Given the description of an element on the screen output the (x, y) to click on. 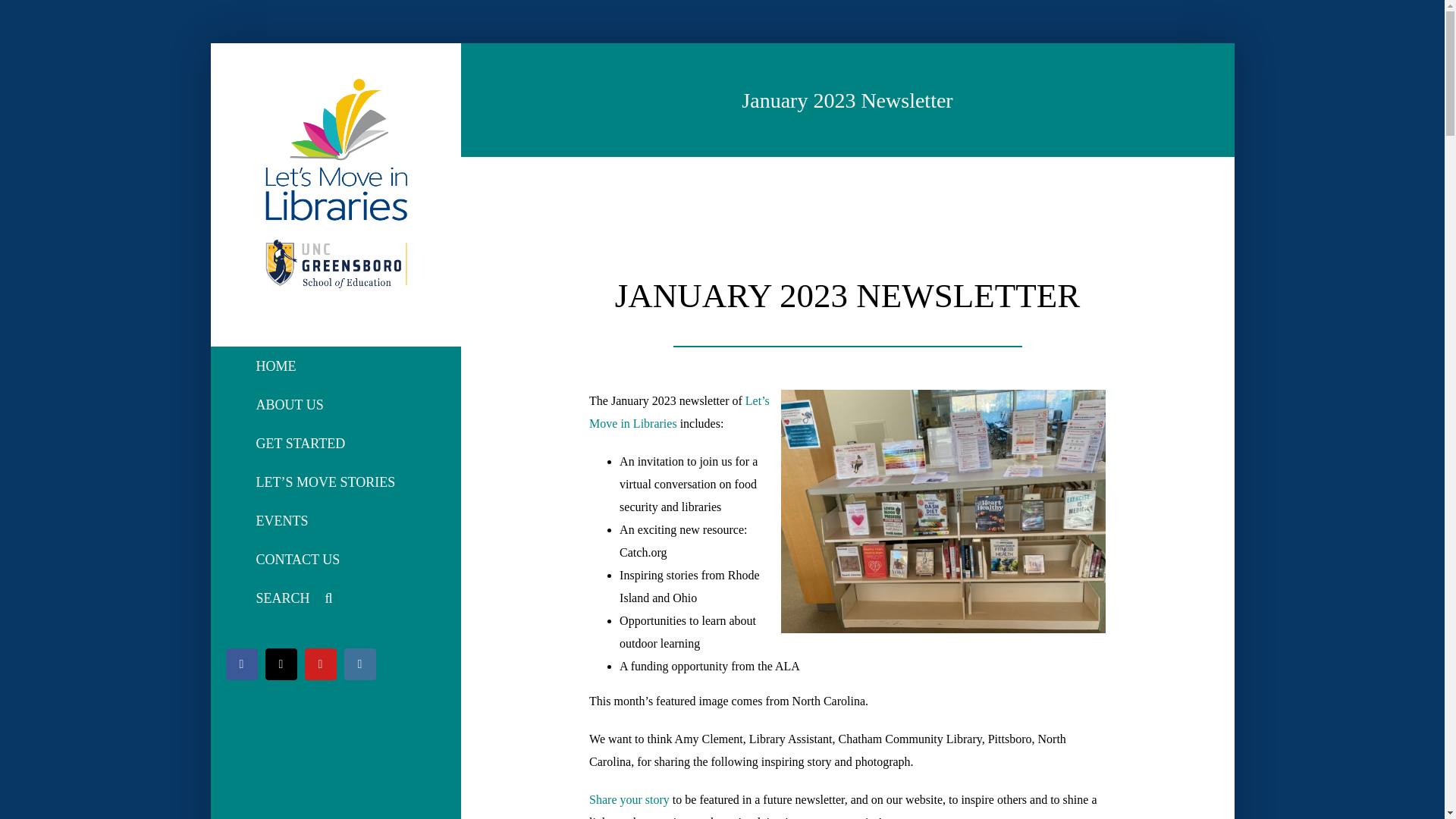
Facebook (241, 664)
Instagram (359, 664)
HOME (335, 365)
Facebook (241, 664)
ABOUT US (335, 405)
YouTube (320, 664)
X (280, 664)
YouTube (320, 664)
X (280, 664)
EVENTS (335, 521)
